Given the description of an element on the screen output the (x, y) to click on. 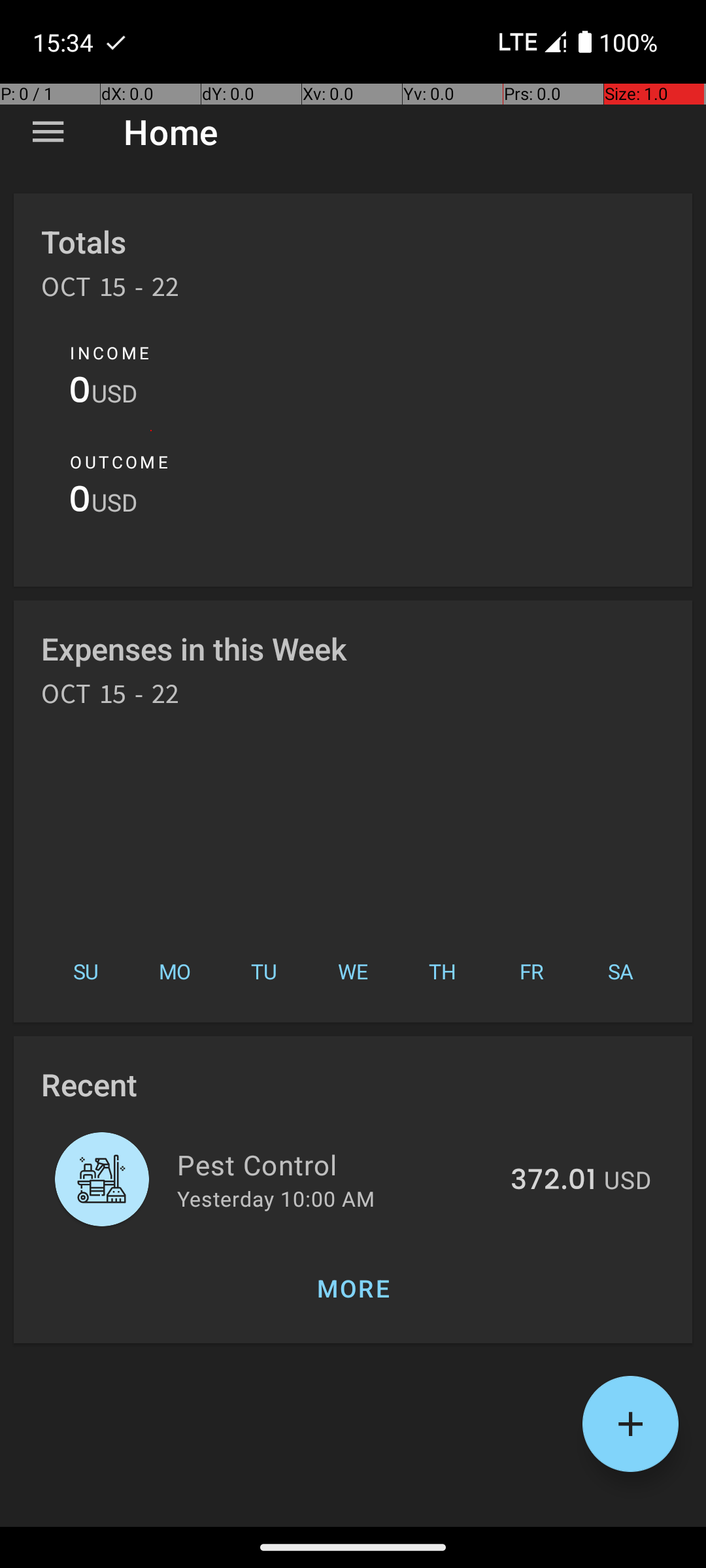
Pest Control Element type: android.widget.TextView (336, 1164)
Yesterday 10:00 AM Element type: android.widget.TextView (275, 1198)
372.01 Element type: android.widget.TextView (552, 1180)
